Given the description of an element on the screen output the (x, y) to click on. 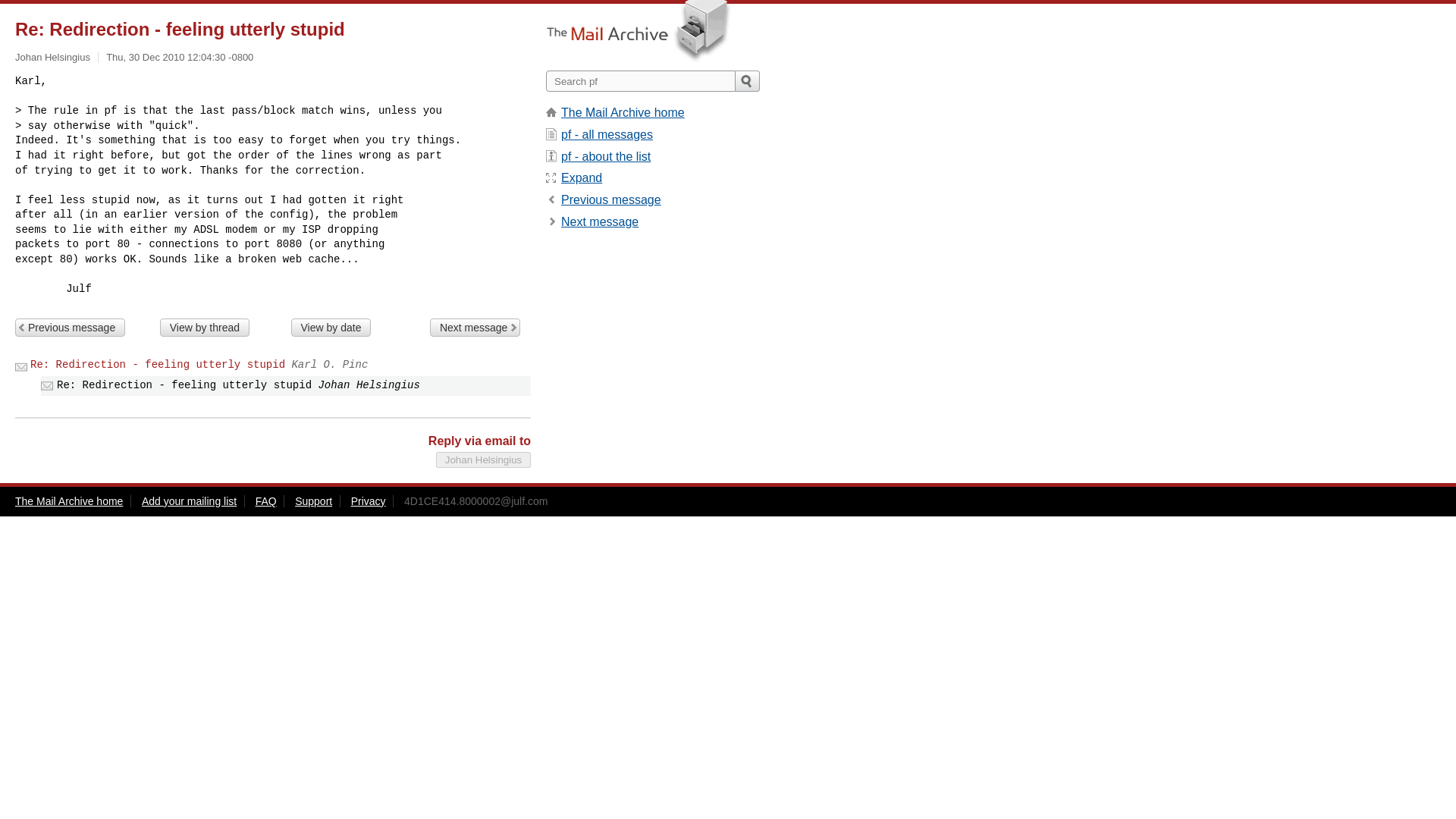
Johan Helsingius (52, 57)
Next message (599, 221)
pf - about the list (605, 155)
Next message (474, 327)
pf - all messages (606, 133)
The Mail Archive home (68, 500)
Privacy (367, 500)
Re: Redirection - feeling utterly stupid (157, 364)
Previous message (69, 327)
 Johan Helsingius  (483, 459)
The Mail Archive home (622, 112)
 Johan Helsingius  (483, 459)
Previous message (610, 199)
Support (313, 500)
e (581, 177)
